Given the description of an element on the screen output the (x, y) to click on. 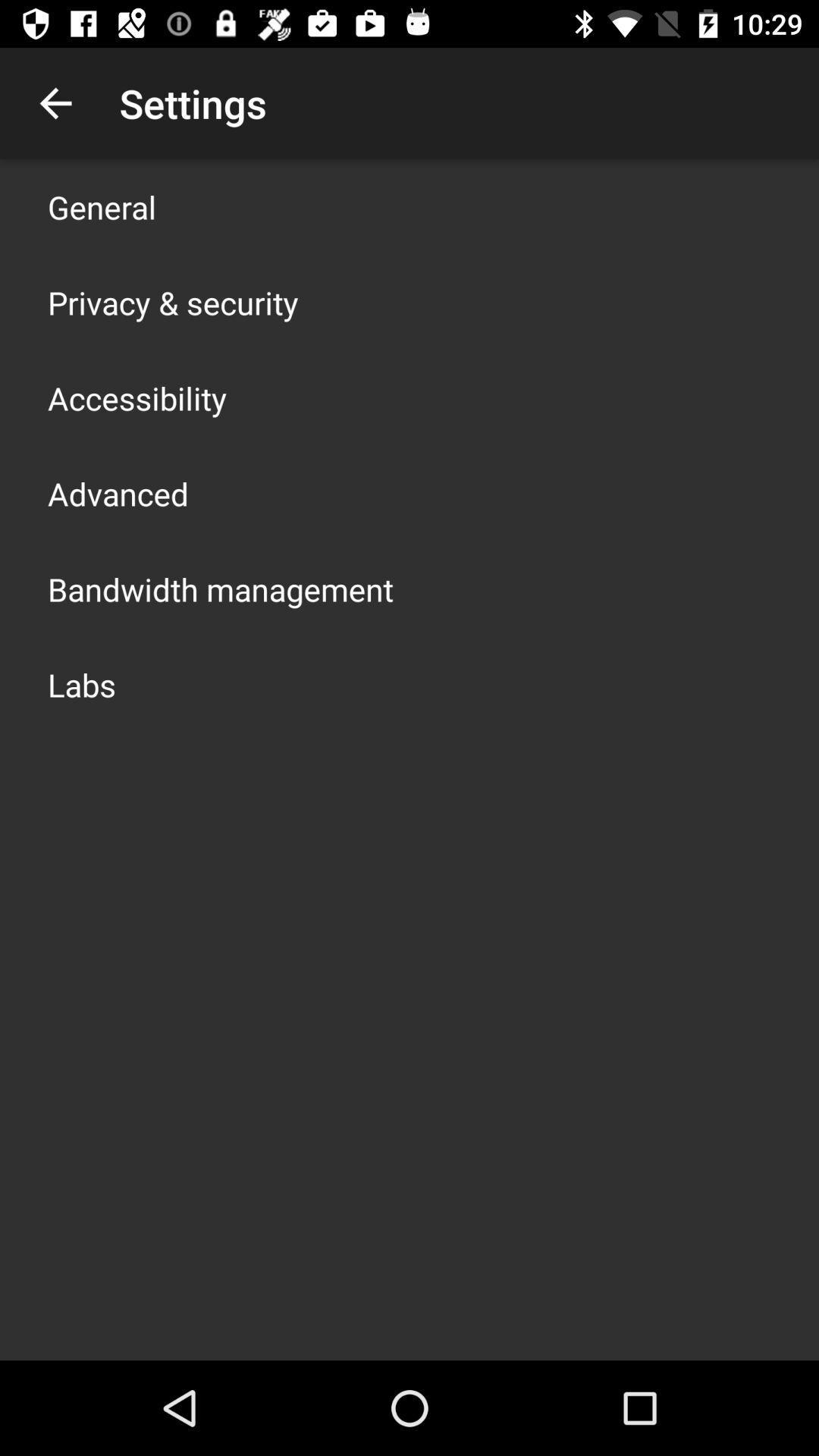
open item above labs item (220, 588)
